Given the description of an element on the screen output the (x, y) to click on. 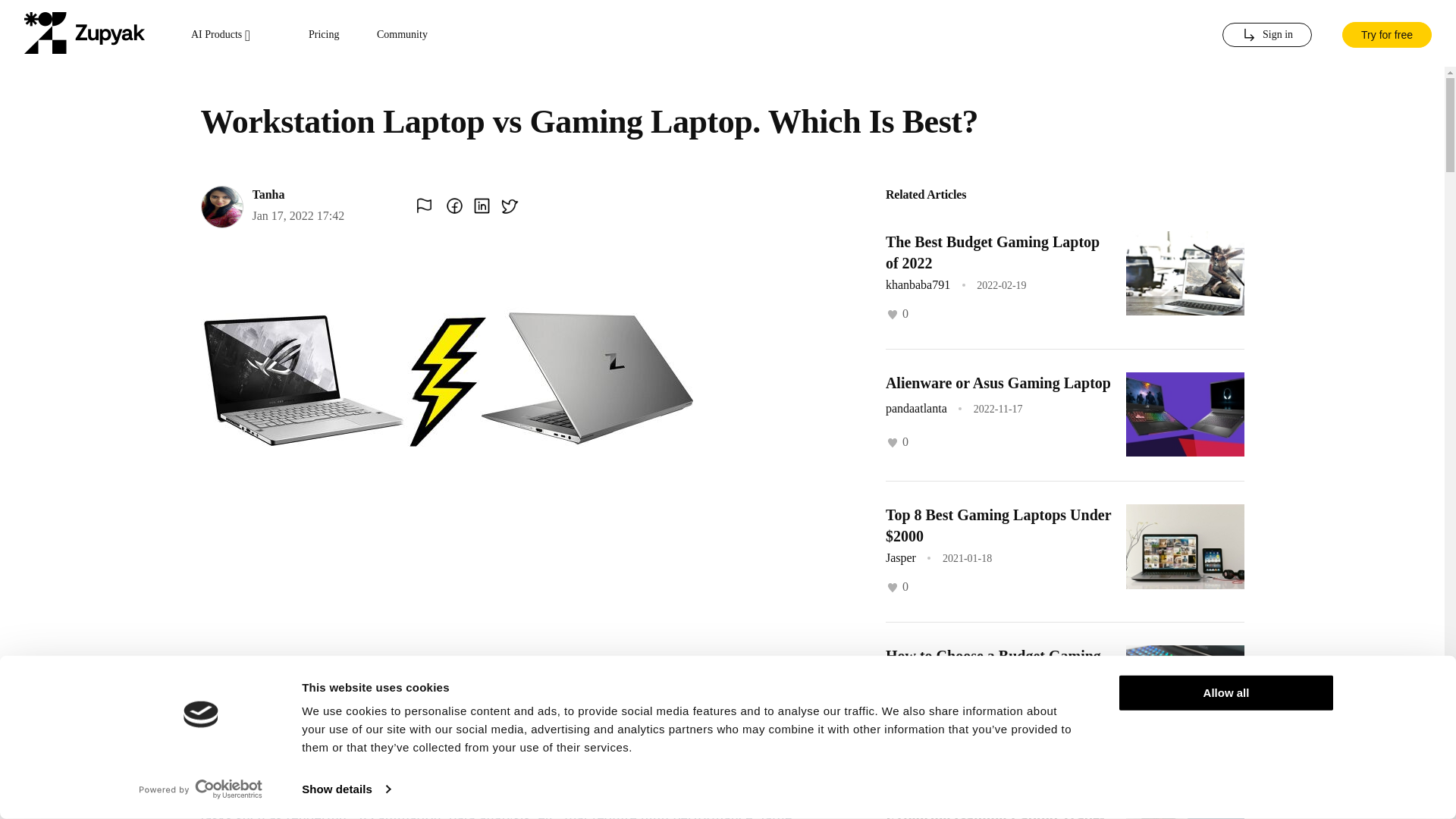
Show details (345, 789)
Alienware or Asus Gaming Laptop (997, 382)
How to Choose a Budget Gaming Laptop (992, 666)
The Best Budget Gaming Laptop of 2022 (992, 252)
